Given the description of an element on the screen output the (x, y) to click on. 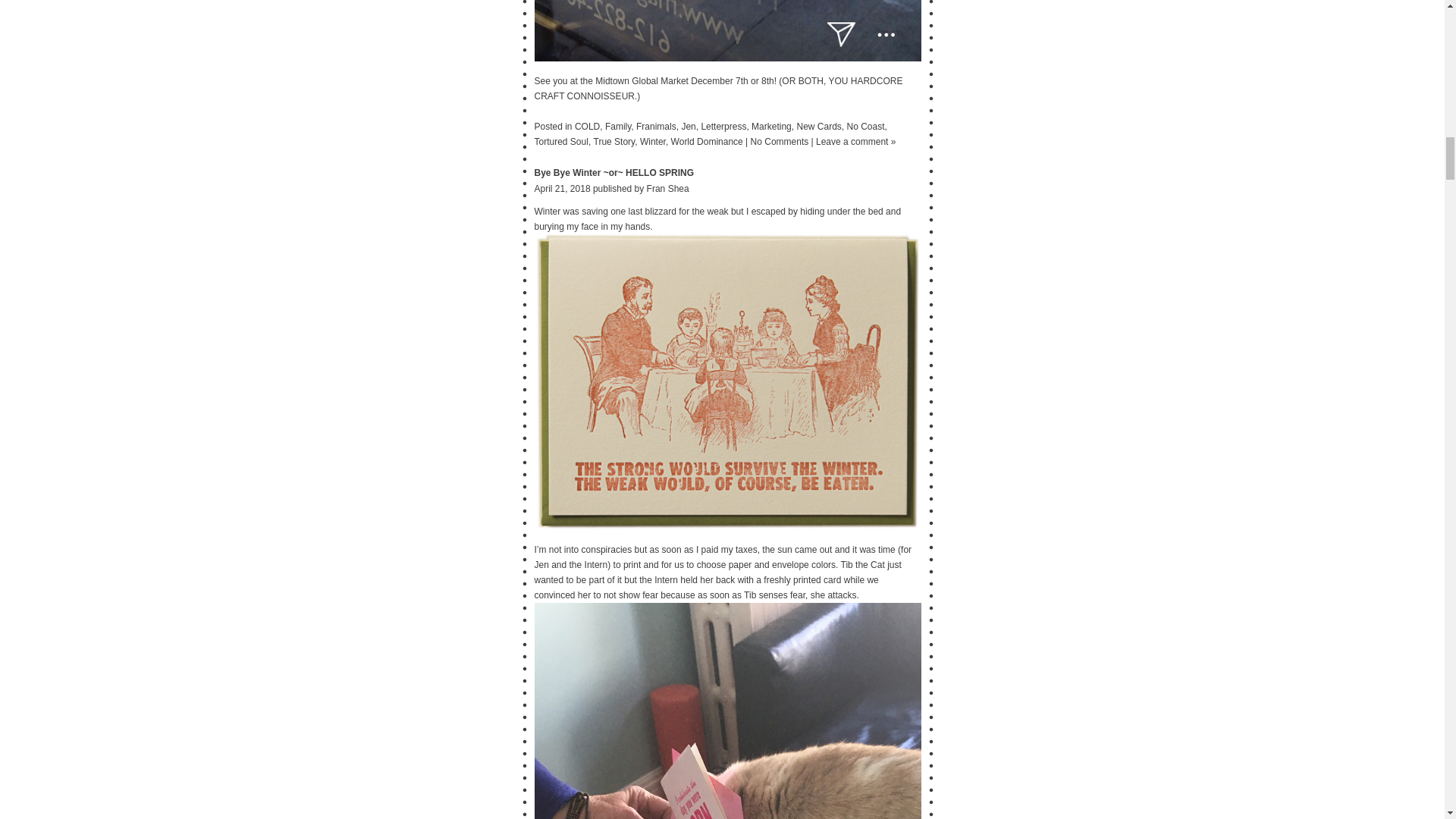
World Dominance (706, 141)
Jen (688, 126)
Letterpress (722, 126)
COLD (587, 126)
Family (617, 126)
New Cards (818, 126)
True Story (614, 141)
Franimals (656, 126)
Winter (652, 141)
Marketing (771, 126)
Tortured Soul (561, 141)
No Coast (864, 126)
